Given the description of an element on the screen output the (x, y) to click on. 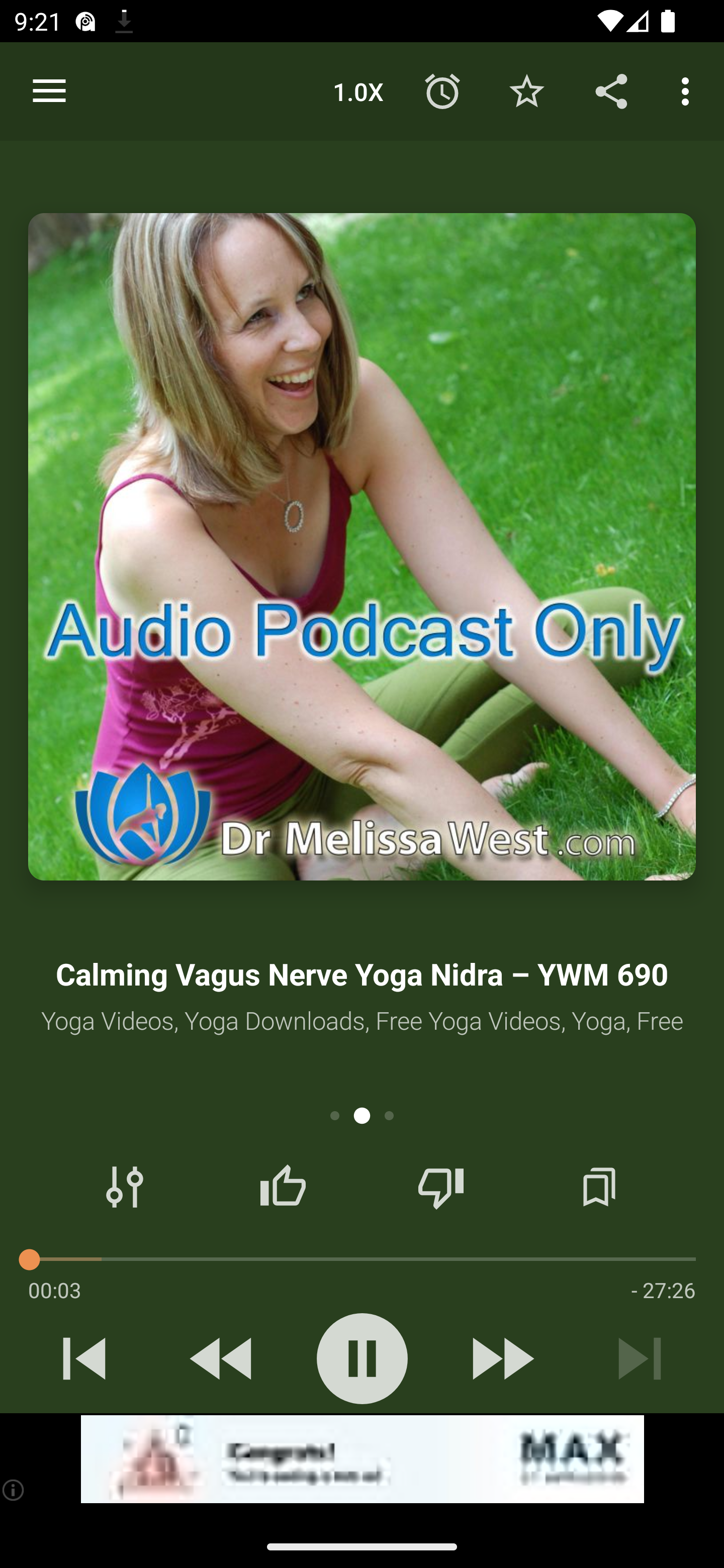
Open navigation sidebar (49, 91)
1.0X (357, 90)
Sleep Timer (442, 90)
Favorite (526, 90)
Share (611, 90)
More options (688, 90)
Episode description (361, 547)
Audio effects (124, 1186)
Thumbs up (283, 1186)
Thumbs down (440, 1186)
Chapters / Bookmarks (598, 1186)
- 27:26 (663, 1289)
Previous track (84, 1358)
Skip 15s backward (222, 1358)
Play / Pause (362, 1358)
Skip 30s forward (500, 1358)
Next track (639, 1358)
app-monetization (362, 1459)
(i) (14, 1489)
